Given the description of an element on the screen output the (x, y) to click on. 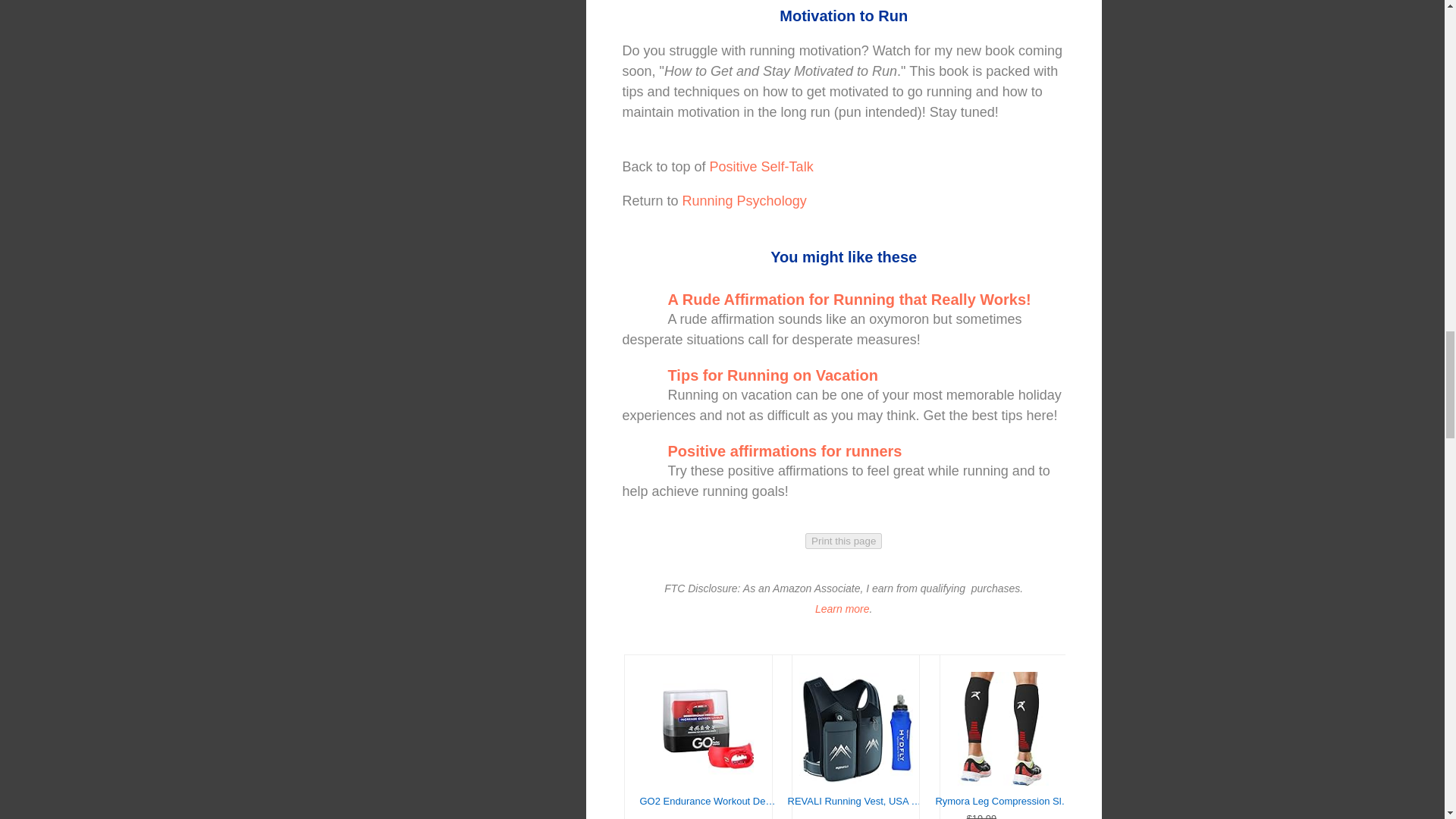
Print this page (843, 540)
Running Psychology (774, 211)
A Rude Affirmation for Running that Really Works! (848, 299)
Tips for Running on Vacation (771, 375)
Positive Self-Talk (761, 166)
Learn more (842, 608)
Positive affirmations for runners (783, 451)
